Given the description of an element on the screen output the (x, y) to click on. 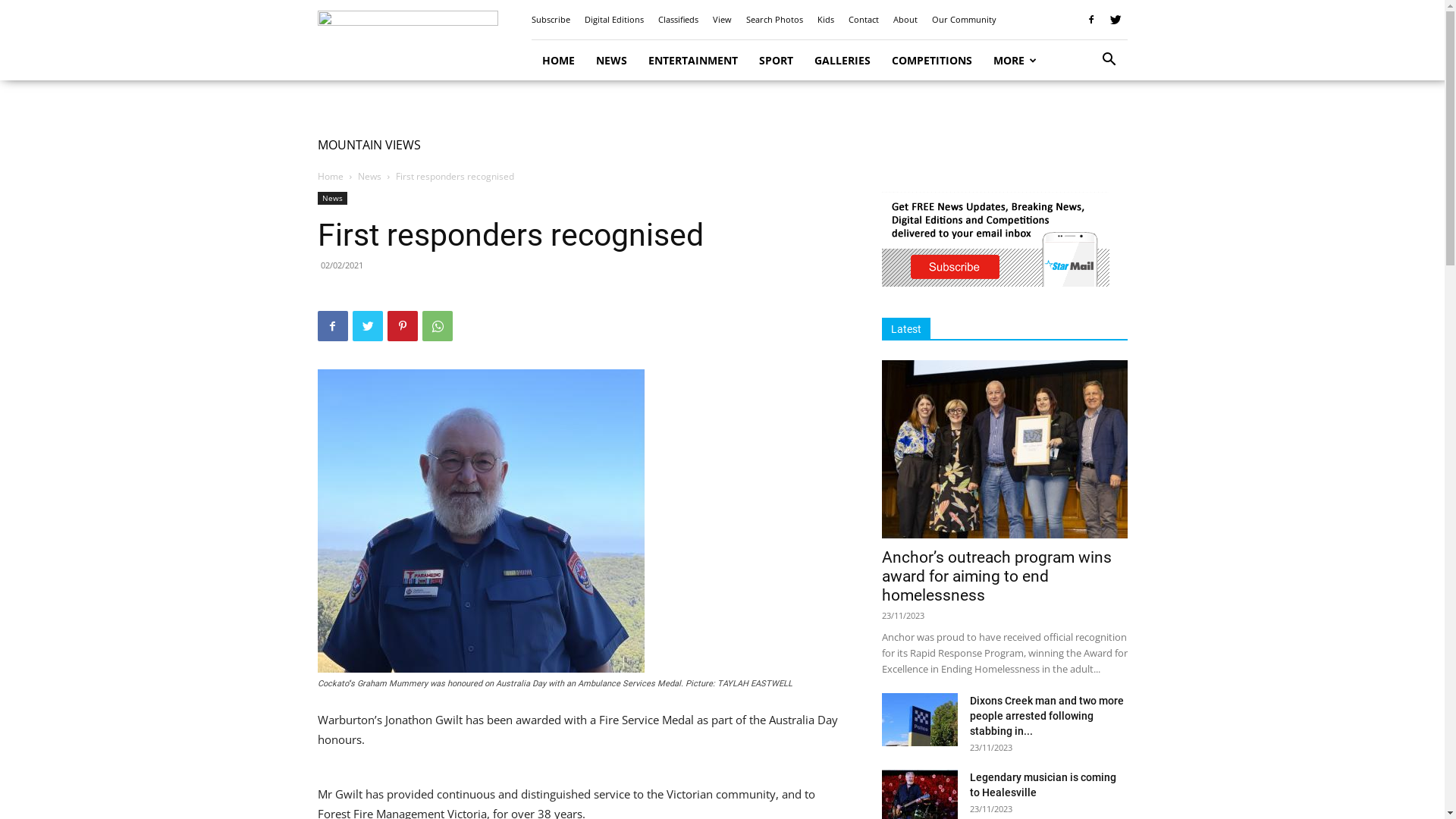
Our Community Element type: text (963, 19)
Search Photos Element type: text (774, 19)
MORE Element type: text (1015, 60)
News Element type: text (331, 197)
Search Element type: text (1085, 122)
WhatsApp Element type: hover (436, 325)
Home Element type: text (329, 175)
Contact Element type: text (862, 19)
News Element type: text (369, 175)
SPORT Element type: text (775, 60)
COMPETITIONS Element type: text (931, 60)
Facebook Element type: hover (331, 325)
Ambo_226644_05.jpg Element type: hover (479, 520)
Pinterest Element type: hover (401, 325)
Kids Element type: text (825, 19)
Legendary musician is coming to Healesville Element type: text (1042, 784)
Facebook Element type: hover (1090, 19)
Digital Editions Element type: text (613, 19)
Twitter Element type: hover (1115, 19)
GALLERIES Element type: text (842, 60)
View Element type: text (721, 19)
Classifieds Element type: text (678, 19)
NEWS Element type: text (611, 60)
HOME Element type: text (557, 60)
ENTERTAINMENT Element type: text (692, 60)
Subscribe Element type: text (549, 19)
About Element type: text (905, 19)
Twitter Element type: hover (366, 325)
